Given the description of an element on the screen output the (x, y) to click on. 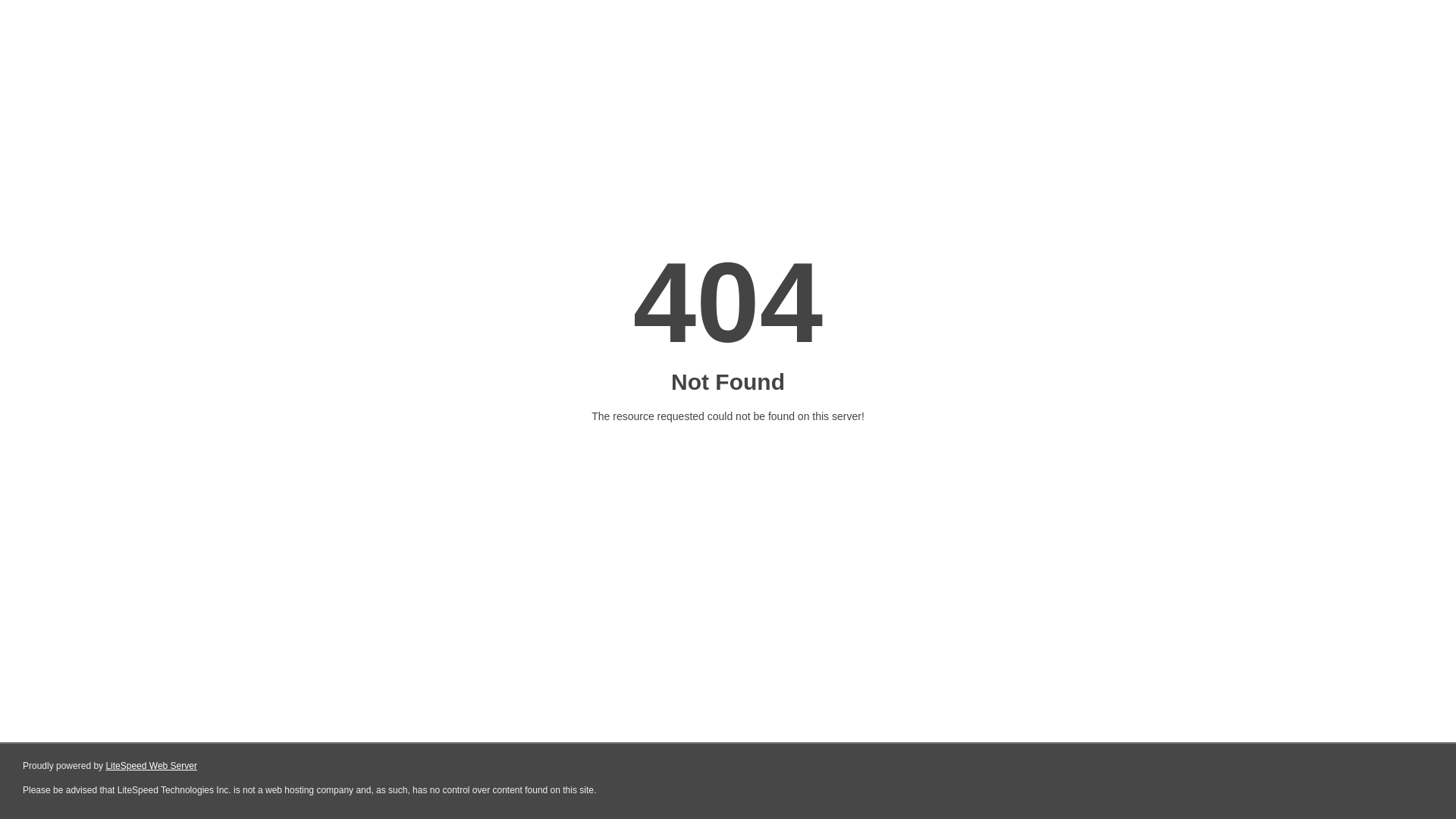
LiteSpeed Web Server Element type: text (151, 765)
